Given the description of an element on the screen output the (x, y) to click on. 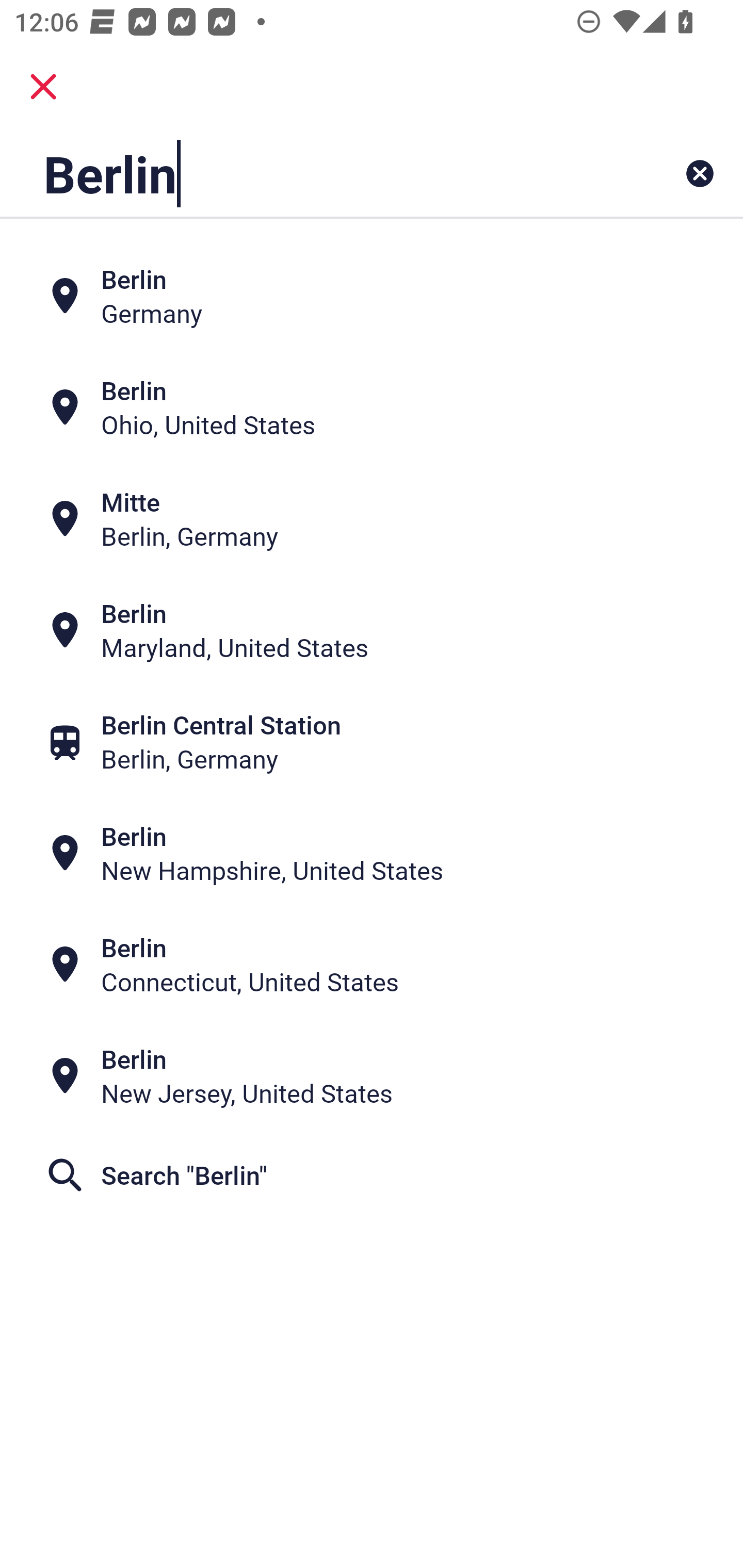
close. (43, 86)
Clear (699, 173)
Berlin (306, 173)
Berlin Germany (371, 295)
Berlin Ohio, United States (371, 406)
Mitte Berlin, Germany (371, 517)
Berlin Maryland, United States (371, 629)
Berlin Central Station Berlin, Germany (371, 742)
Berlin New Hampshire, United States (371, 853)
Berlin Connecticut, United States (371, 964)
Berlin New Jersey, United States (371, 1076)
Search "Berlin" (371, 1175)
